Given the description of an element on the screen output the (x, y) to click on. 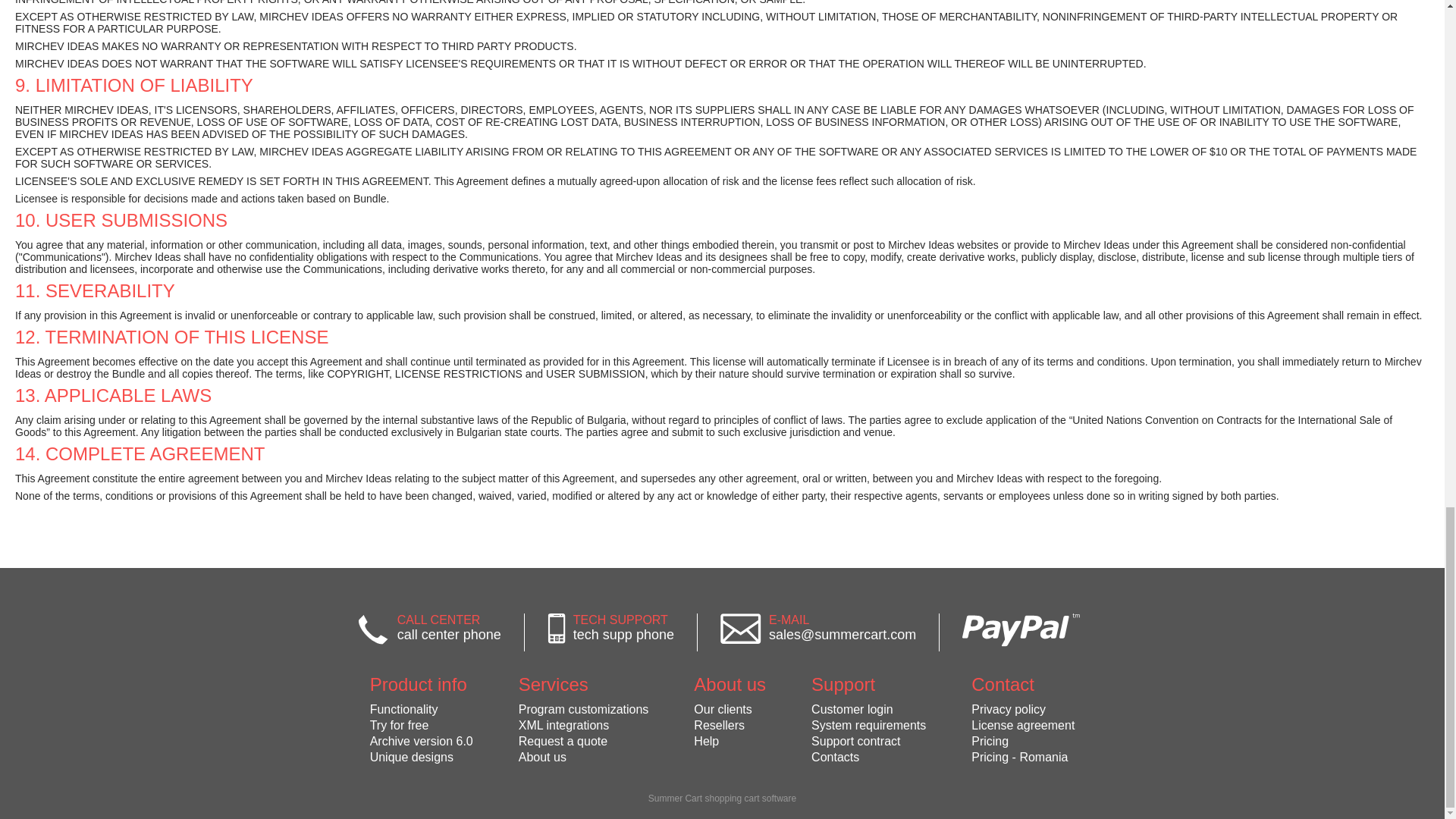
Resellers (729, 725)
About us (583, 757)
Our clients (729, 709)
Request a quote (583, 741)
Archive version 6.0 (421, 741)
Support contract (868, 741)
Unique designs (421, 757)
Try for free (421, 725)
XML integrations (583, 725)
Functionality (421, 709)
System requirements (868, 725)
Program customizations (583, 709)
Help (729, 741)
Customer login (868, 709)
